Given the description of an element on the screen output the (x, y) to click on. 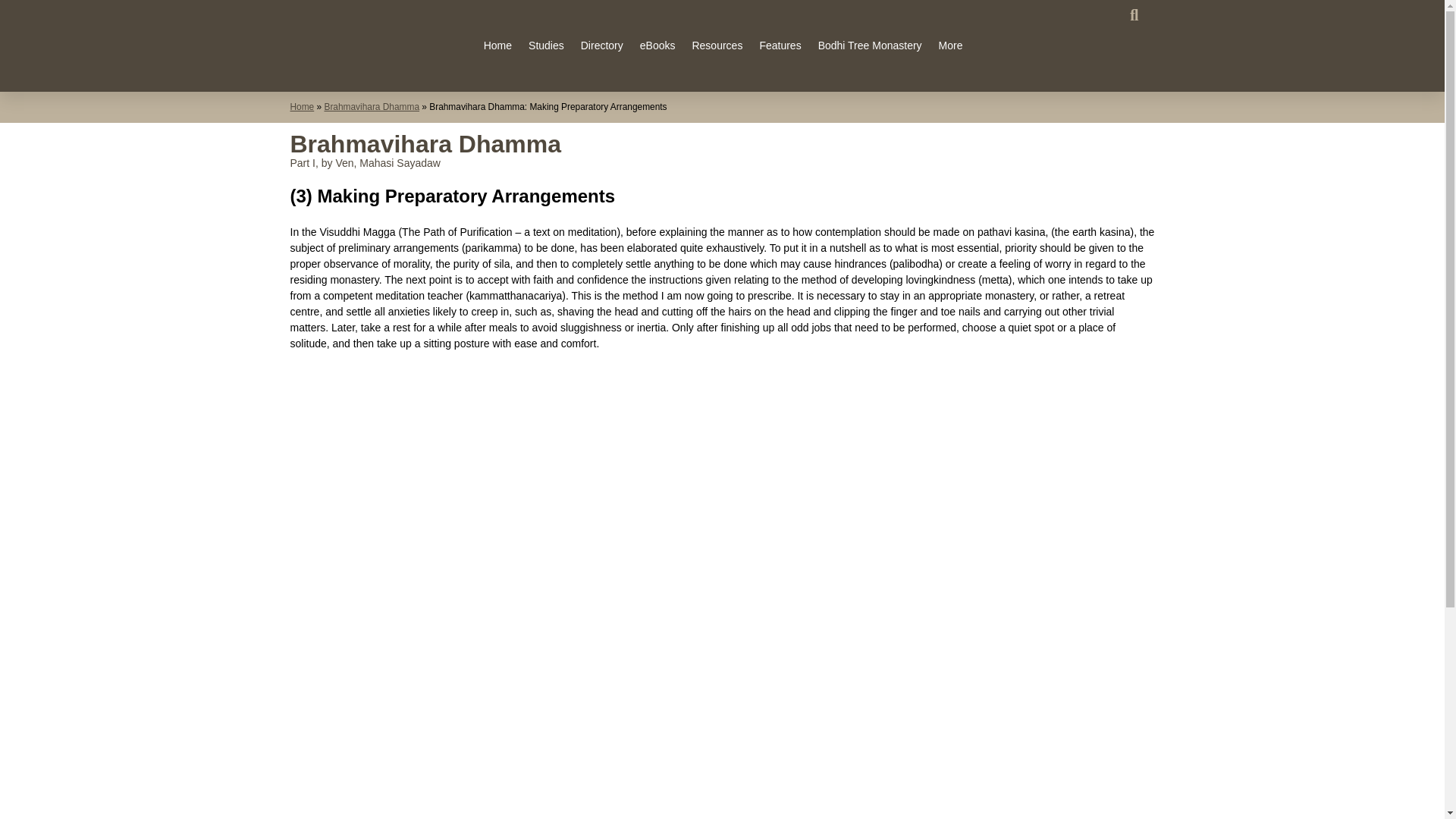
Resources (716, 45)
Home (497, 45)
Studies (546, 45)
Directory (601, 45)
eBooks (657, 45)
